Given the description of an element on the screen output the (x, y) to click on. 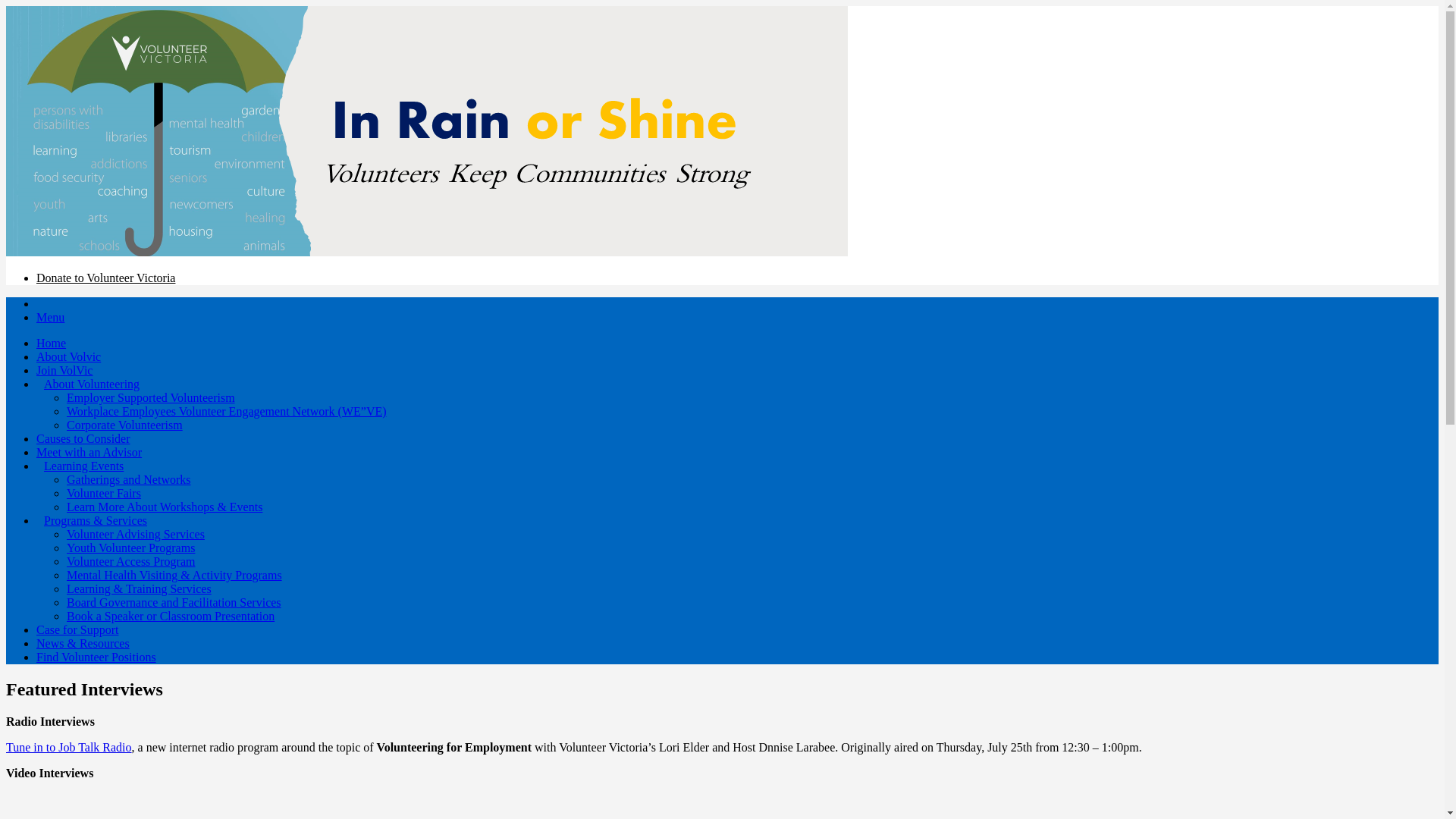
Board Governance and Facilitation Services Element type: text (173, 602)
Youth Volunteer Programs Element type: text (130, 547)
Find Volunteer Positions Element type: text (96, 656)
Volunteer Advising Services Element type: text (135, 533)
Case for Support Element type: text (77, 629)
Book a Speaker or Classroom Presentation Element type: text (170, 615)
Causes to Consider Element type: text (83, 438)
About Volunteering Element type: text (91, 383)
Employer Supported Volunteerism Element type: text (150, 397)
News & Resources Element type: text (82, 643)
Home Element type: text (50, 342)
Volunteer Access Program Element type: text (130, 561)
Learn More About Workshops & Events Element type: text (164, 506)
Programs & Services Element type: text (95, 520)
Gatherings and Networks Element type: text (128, 479)
About Volvic Element type: text (68, 356)
Corporate Volunteerism Element type: text (124, 424)
Tune in to Job Talk Radio Element type: text (68, 746)
Donate to Volunteer Victoria Element type: text (105, 277)
Join VolVic Element type: text (64, 370)
Meet with an Advisor Element type: text (88, 451)
Learning & Training Services Element type: text (138, 588)
Learning Events Element type: text (83, 465)
Menu Element type: text (50, 316)
Volunteer Fairs Element type: text (103, 492)
Mental Health Visiting & Activity Programs Element type: text (174, 574)
